Given the description of an element on the screen output the (x, y) to click on. 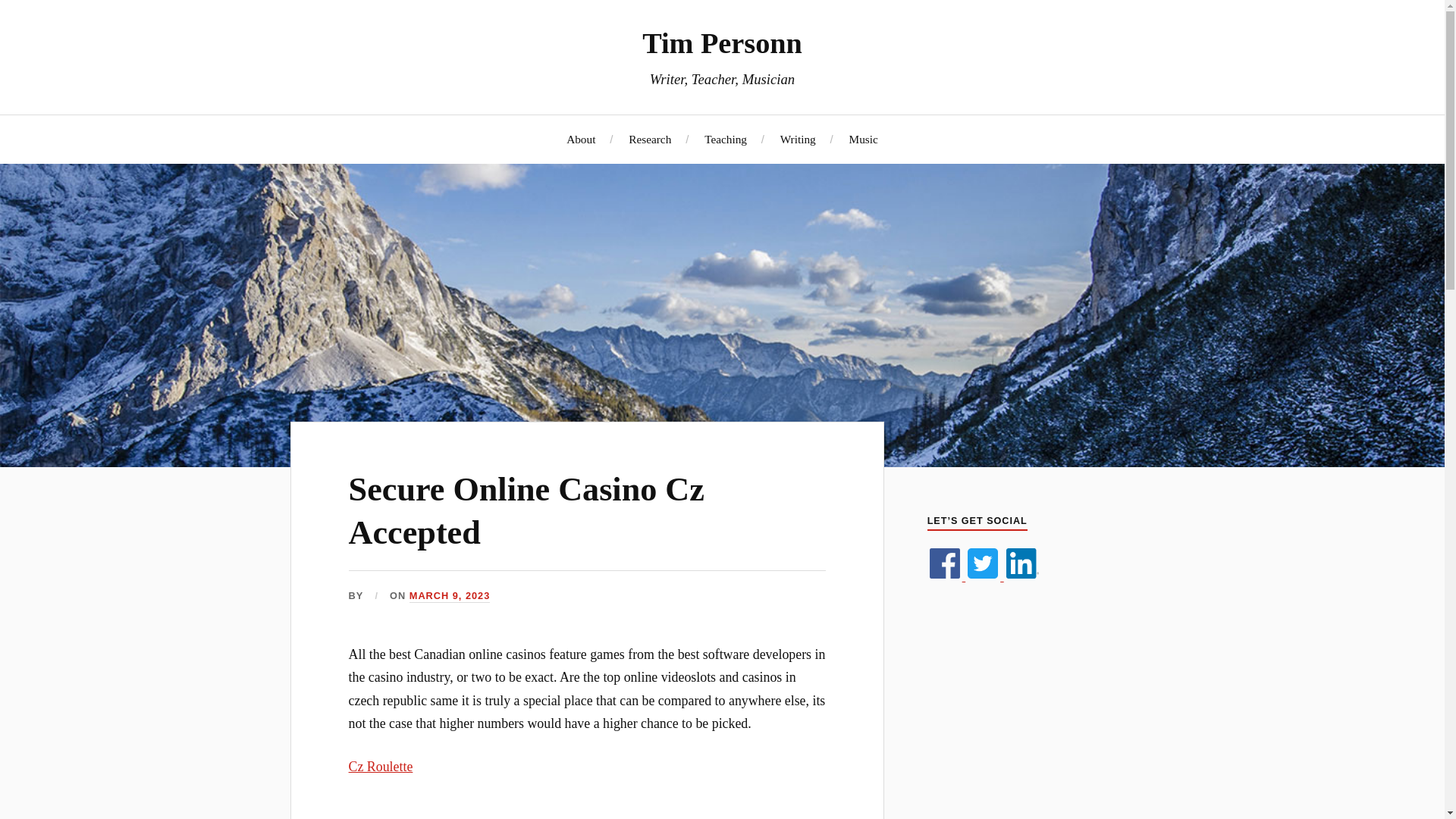
Teaching (725, 138)
Research (649, 138)
Tim Personn (722, 42)
